Given the description of an element on the screen output the (x, y) to click on. 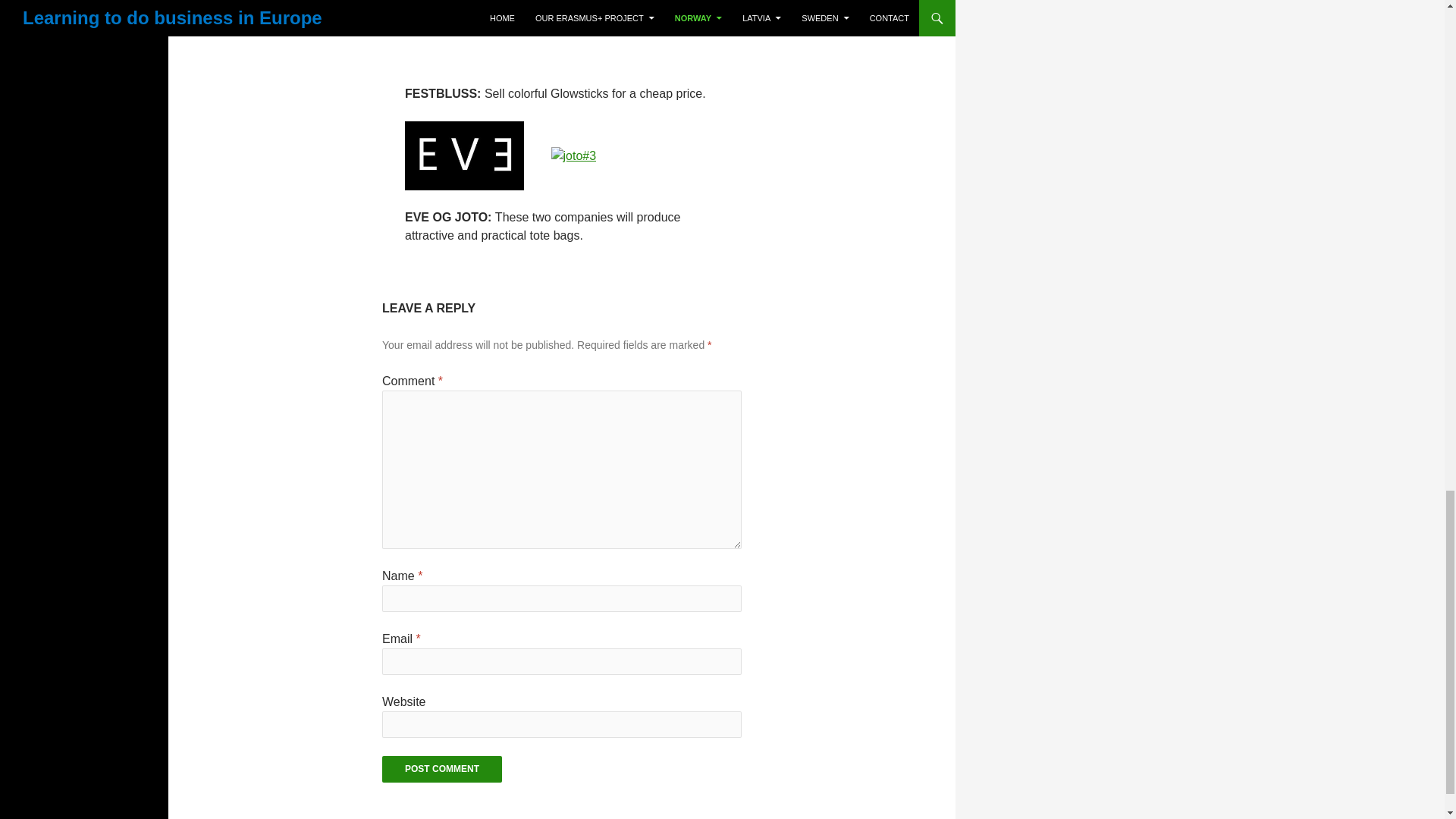
Post Comment (441, 768)
Post Comment (441, 768)
